Given the description of an element on the screen output the (x, y) to click on. 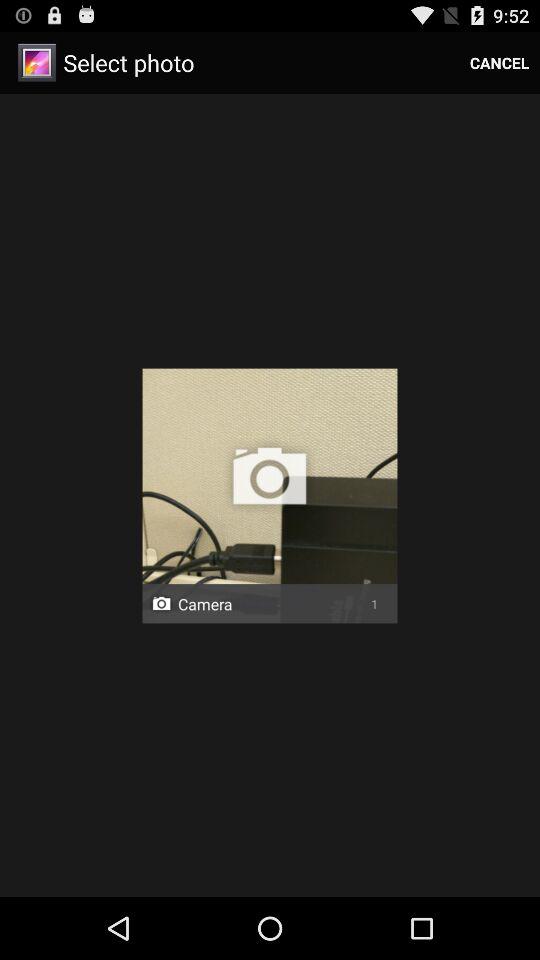
tap the icon next to the select photo icon (499, 62)
